Given the description of an element on the screen output the (x, y) to click on. 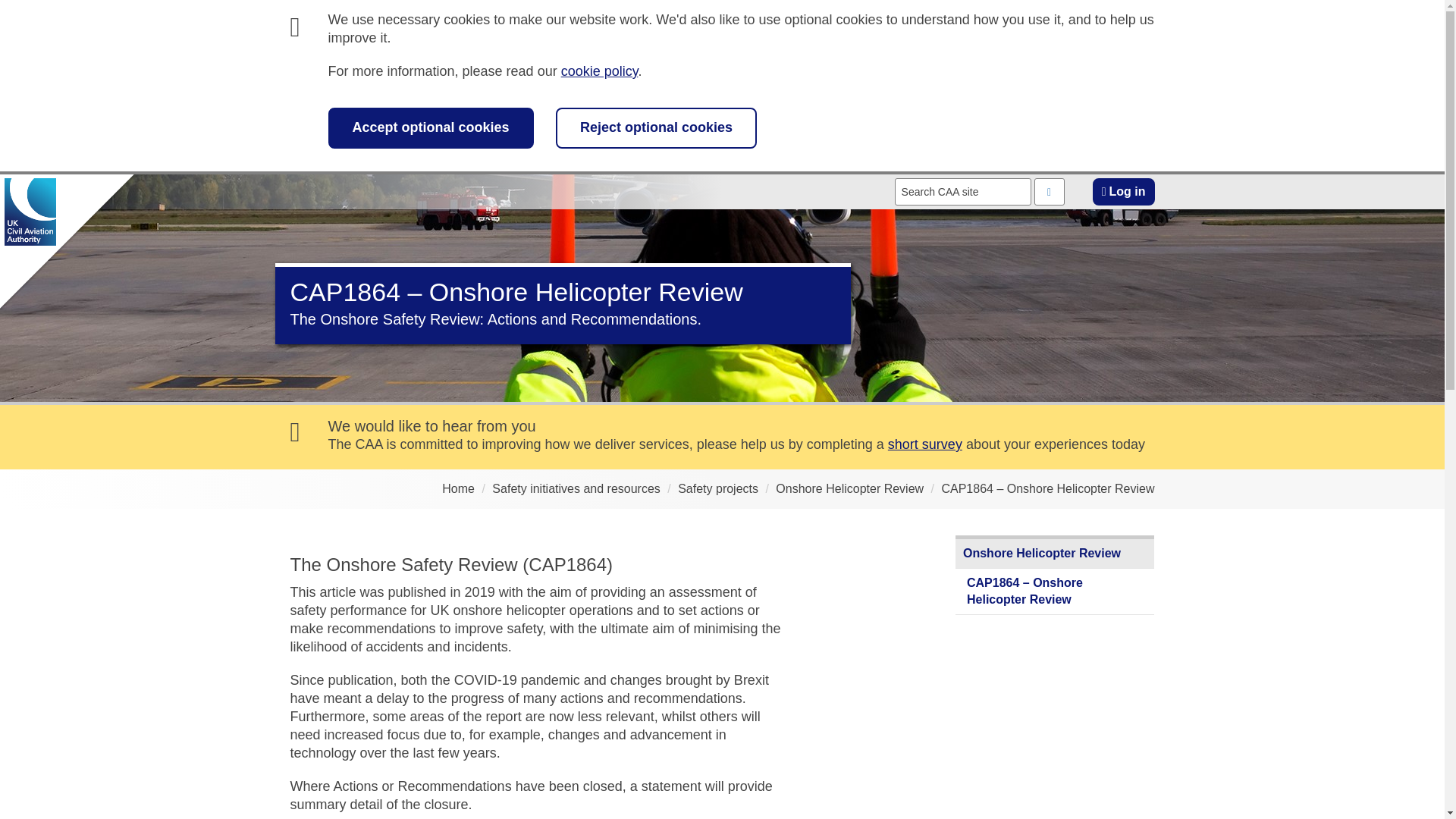
Accept optional cookies (429, 127)
short survey (925, 444)
Reject optional cookies (656, 127)
Safety initiatives and resources (575, 488)
Onshore Helicopter Review (1054, 553)
Search (1048, 191)
Onshore Helicopter Review (849, 488)
Log in (1123, 191)
Safety projects (718, 488)
Home (458, 488)
